Given the description of an element on the screen output the (x, y) to click on. 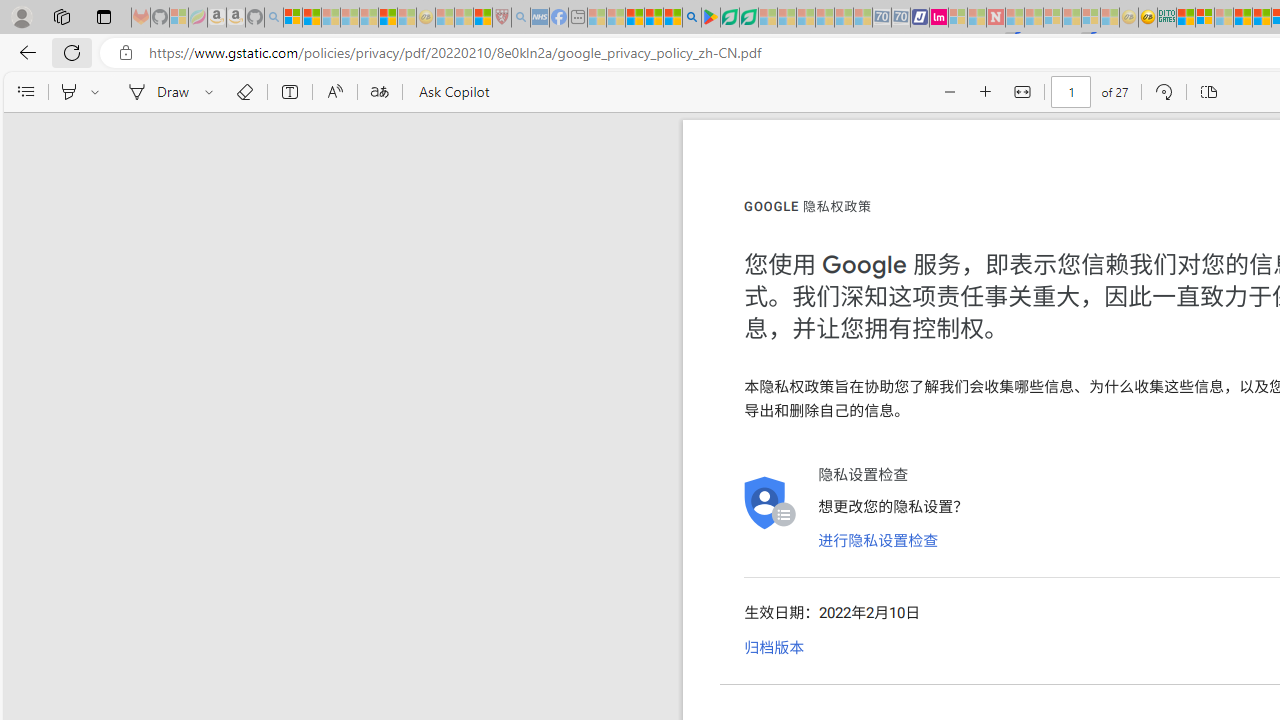
Erase (244, 92)
Highlight (68, 92)
Cheap Hotels - Save70.com - Sleeping (901, 17)
Page view (1208, 92)
New tab - Sleeping (578, 17)
Contents (25, 92)
Rotate (Ctrl+]) (1163, 92)
Microsoft-Report a Concern to Bing - Sleeping (179, 17)
